Given the description of an element on the screen output the (x, y) to click on. 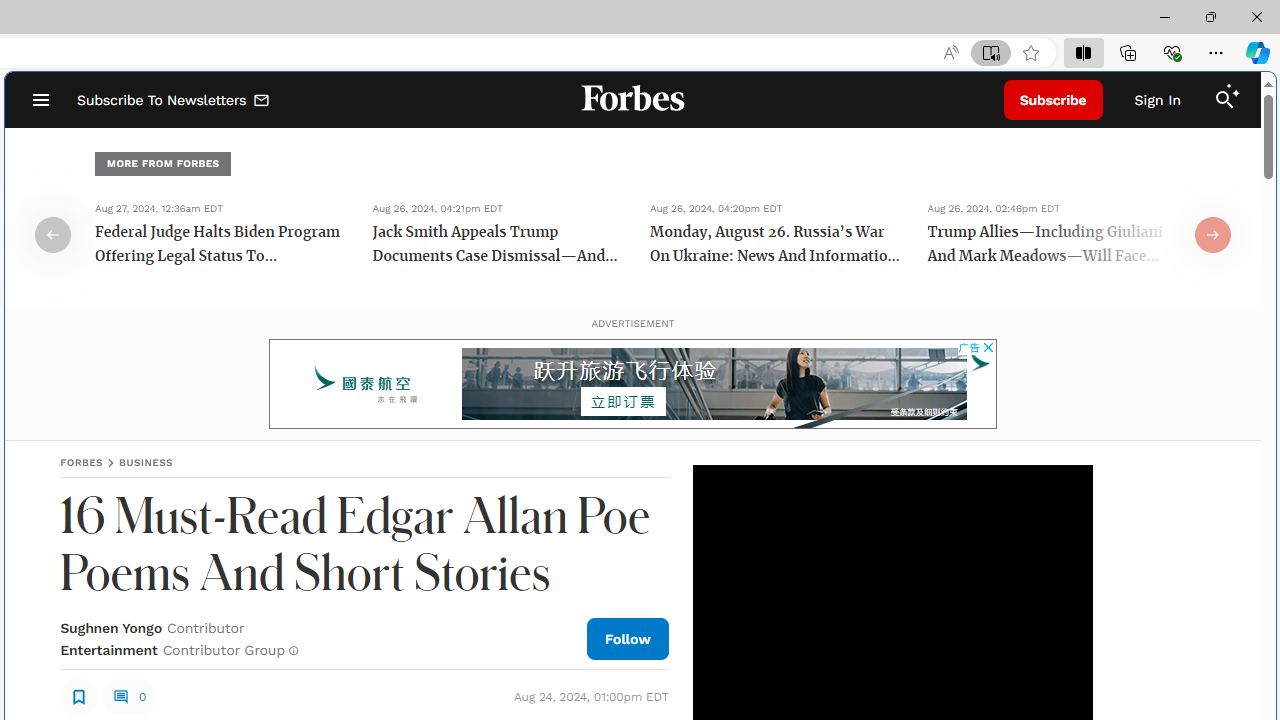
Open Navigation Menu (40, 99)
Class: fs-icon fs-icon--arrow-left (52, 234)
Entertainment (108, 649)
Enter Immersive Reader (F9) (991, 53)
Sign In (1157, 100)
0 (128, 696)
Class: envelope_svg__fs-icon envelope_svg__fs-icon--envelope (262, 102)
Class: sparkles_svg__fs-icon sparkles_svg__fs-icon--sparkles (1233, 91)
